Given the description of an element on the screen output the (x, y) to click on. 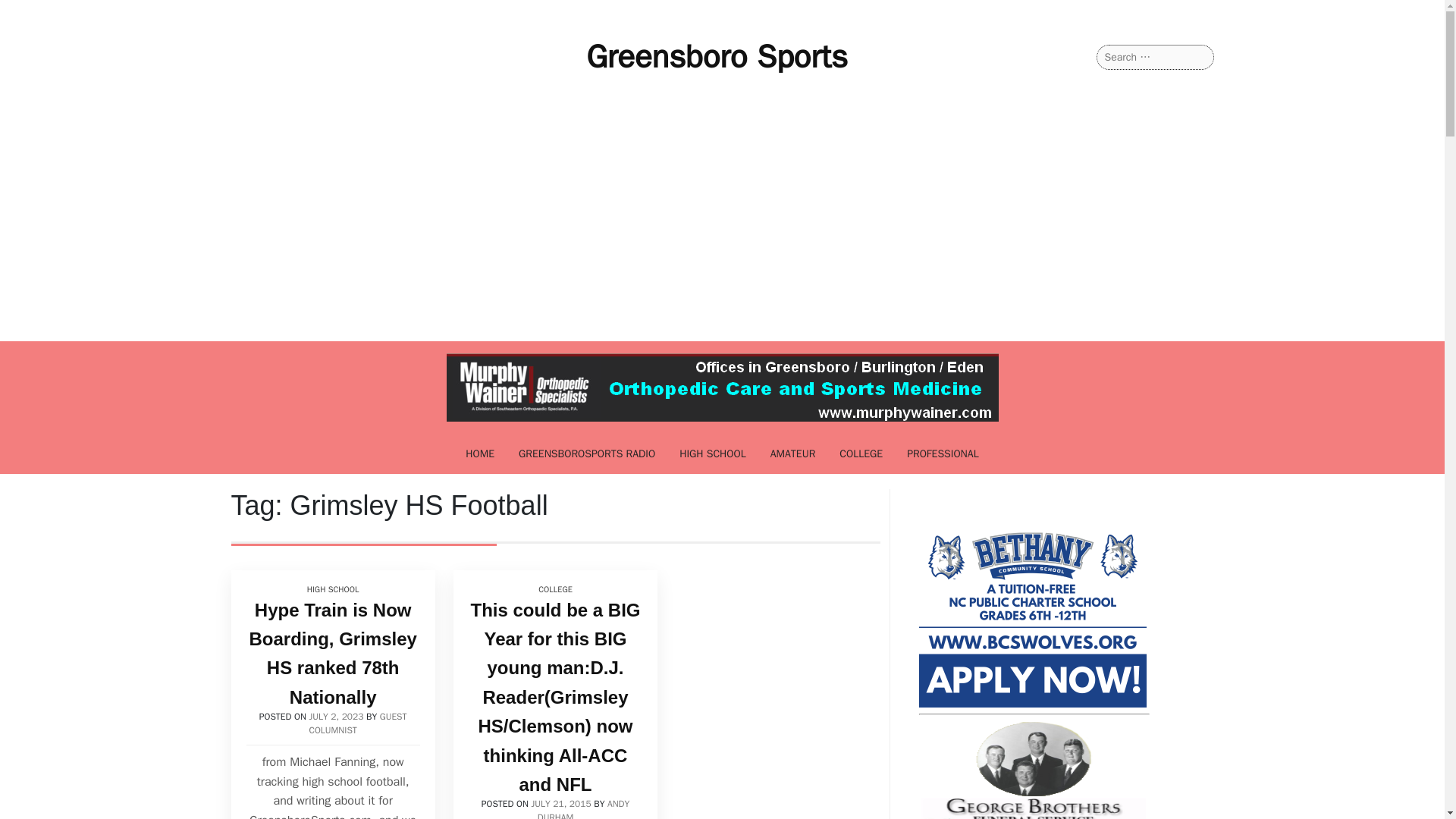
Search (30, 12)
Greensboro Sports (716, 56)
ANDY DURHAM (582, 808)
AMATEUR (793, 454)
JULY 2, 2023 (336, 716)
Search (31, 12)
GUEST COLUMNIST (357, 723)
JULY 21, 2015 (561, 803)
HOME (479, 454)
